Given the description of an element on the screen output the (x, y) to click on. 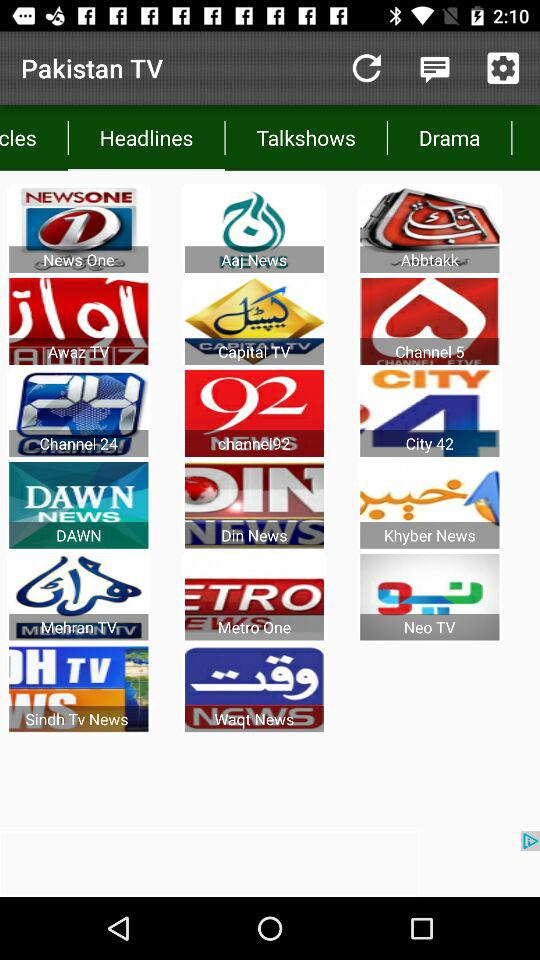
choose the item next to drama app (525, 137)
